Given the description of an element on the screen output the (x, y) to click on. 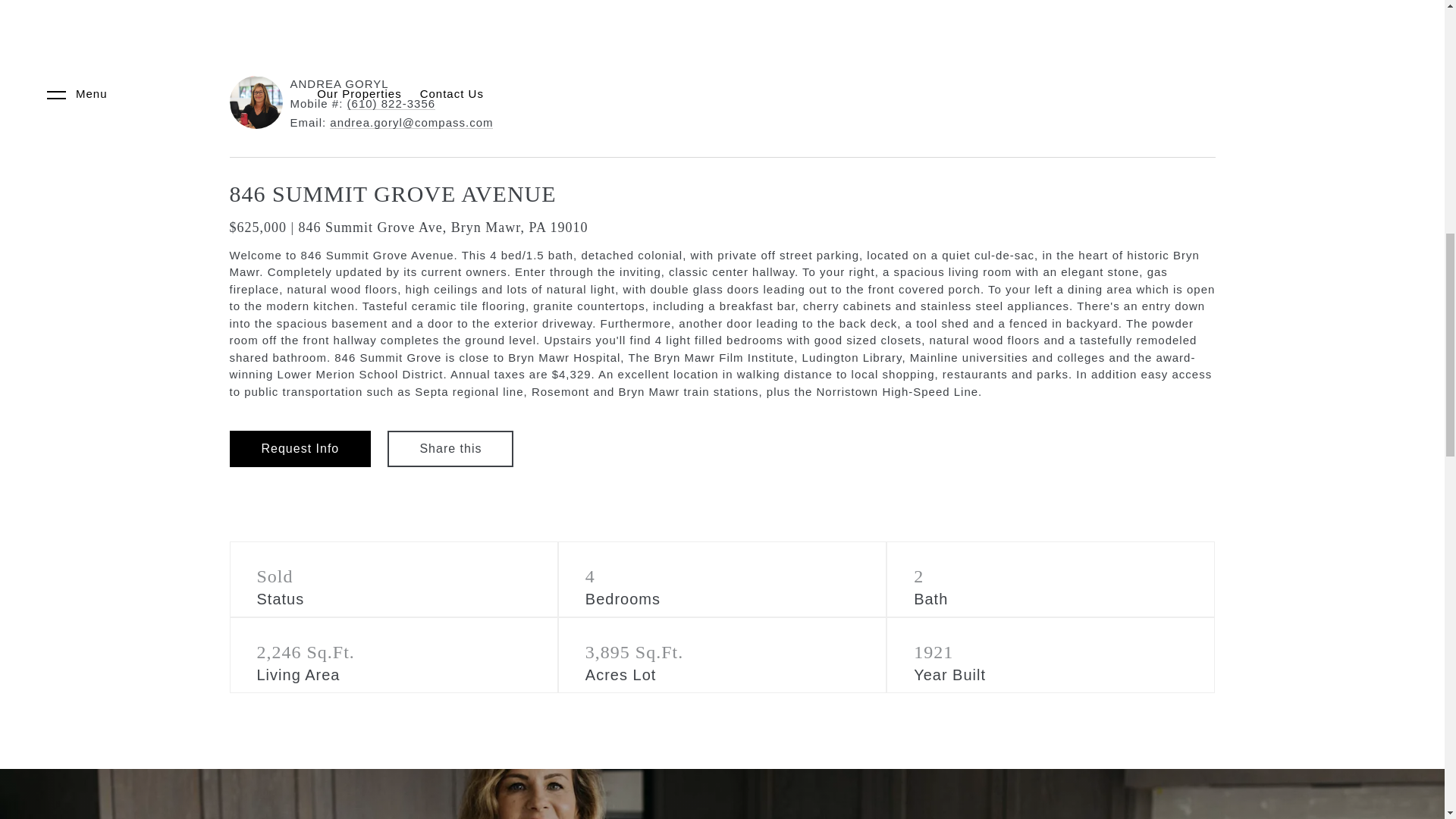
Share this (450, 448)
Request Info (299, 448)
